Given the description of an element on the screen output the (x, y) to click on. 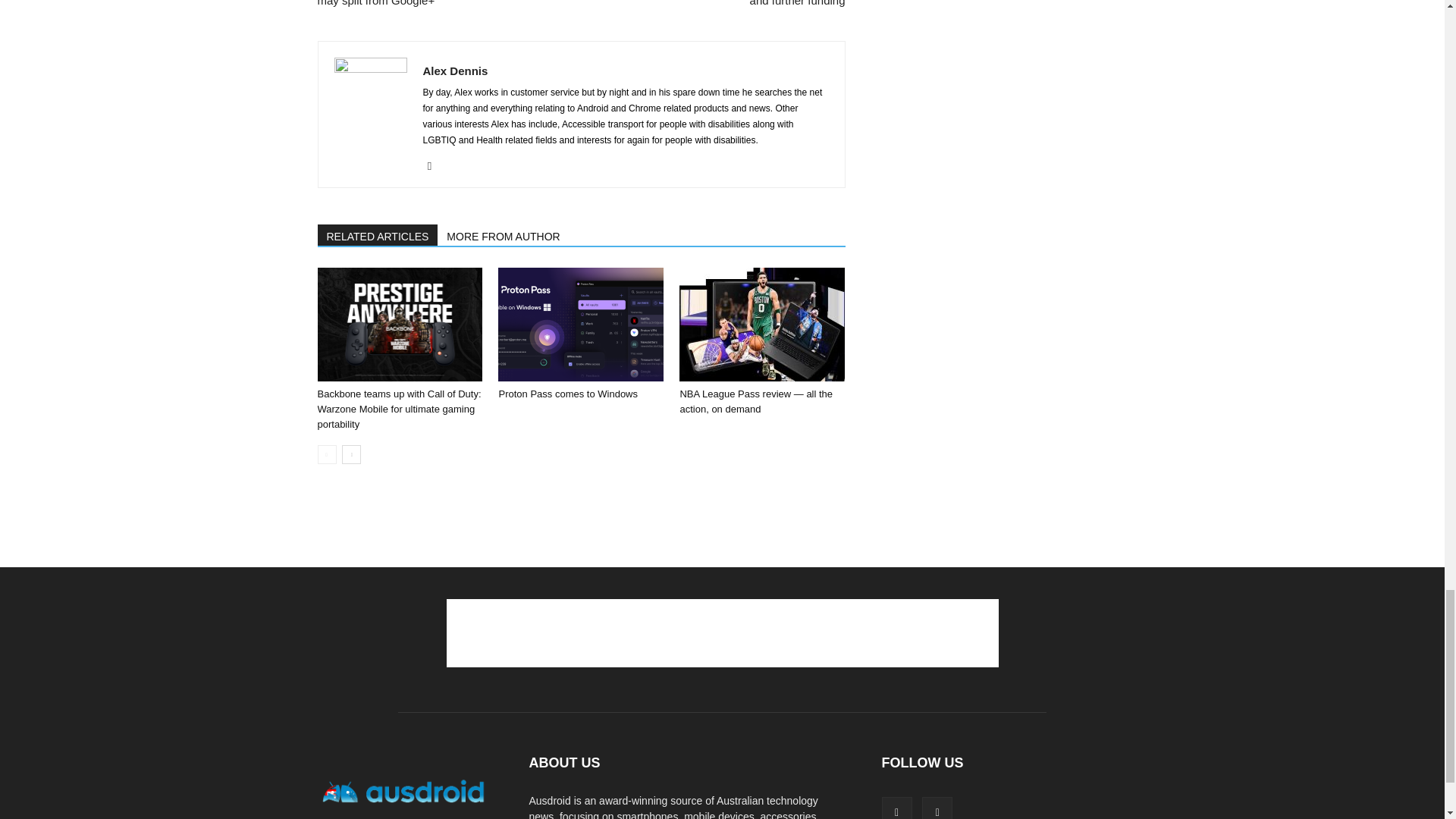
Twitter (435, 166)
